Given the description of an element on the screen output the (x, y) to click on. 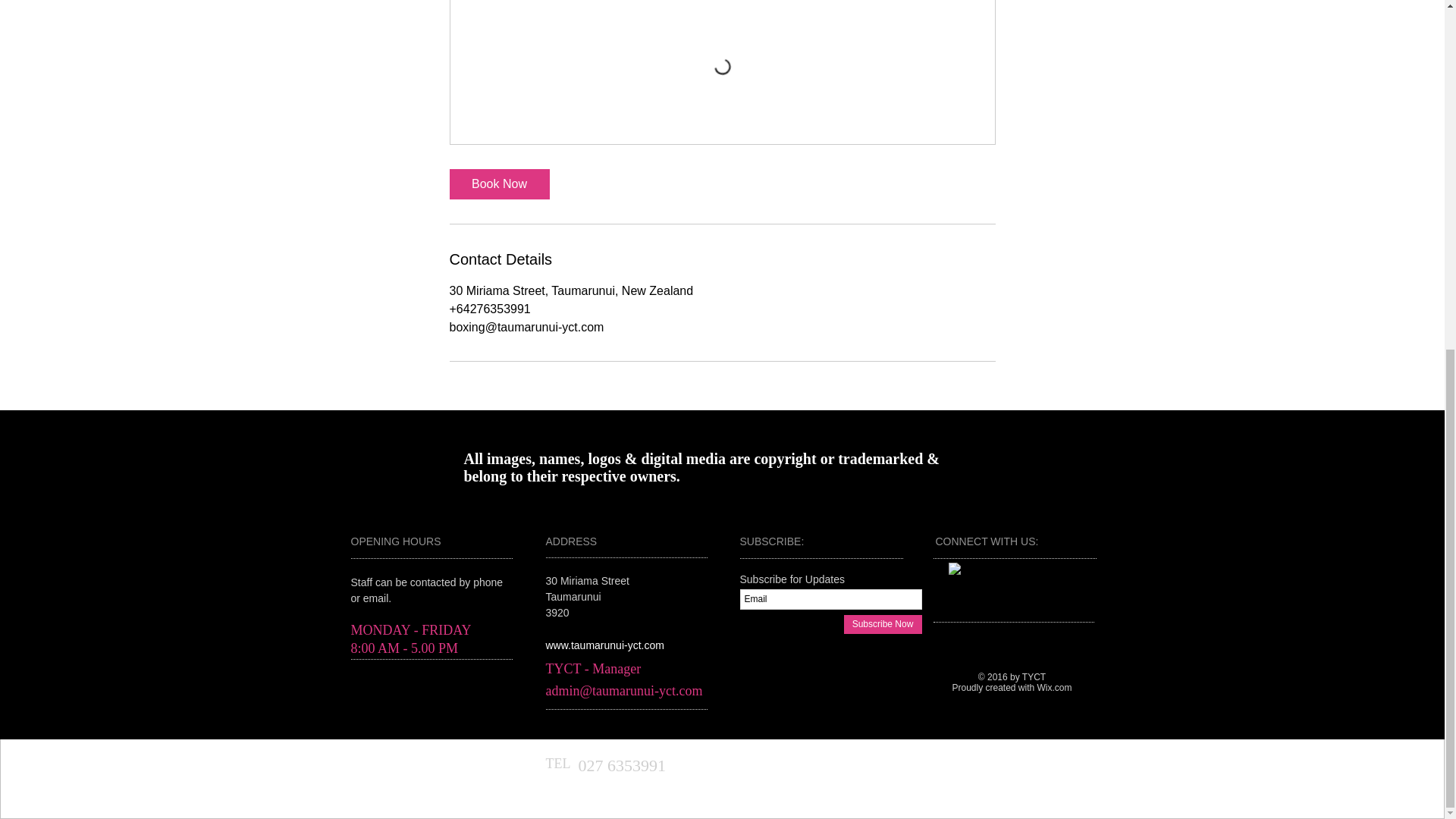
Wix.com (1053, 687)
Subscribe Now (882, 624)
www.taumarunui-yct.com (604, 645)
Book Now (498, 183)
